Given the description of an element on the screen output the (x, y) to click on. 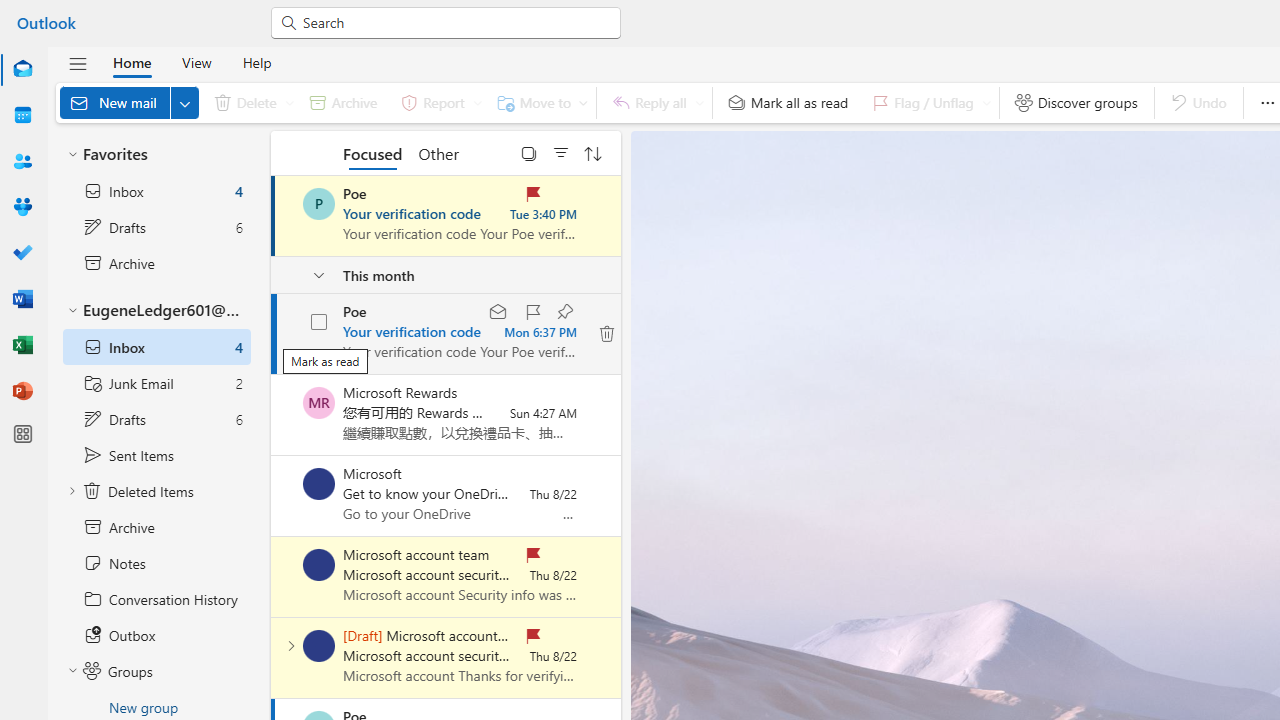
Move to (538, 102)
Calendar (22, 115)
Delete (250, 102)
Mail (22, 69)
Archive (343, 102)
Mark as read (497, 312)
PowerPoint (22, 391)
Microsoft account team (319, 645)
Report (437, 102)
Expand to see more respond options (699, 102)
Excel (22, 344)
Select a conversation (319, 645)
Help (256, 61)
